Given the description of an element on the screen output the (x, y) to click on. 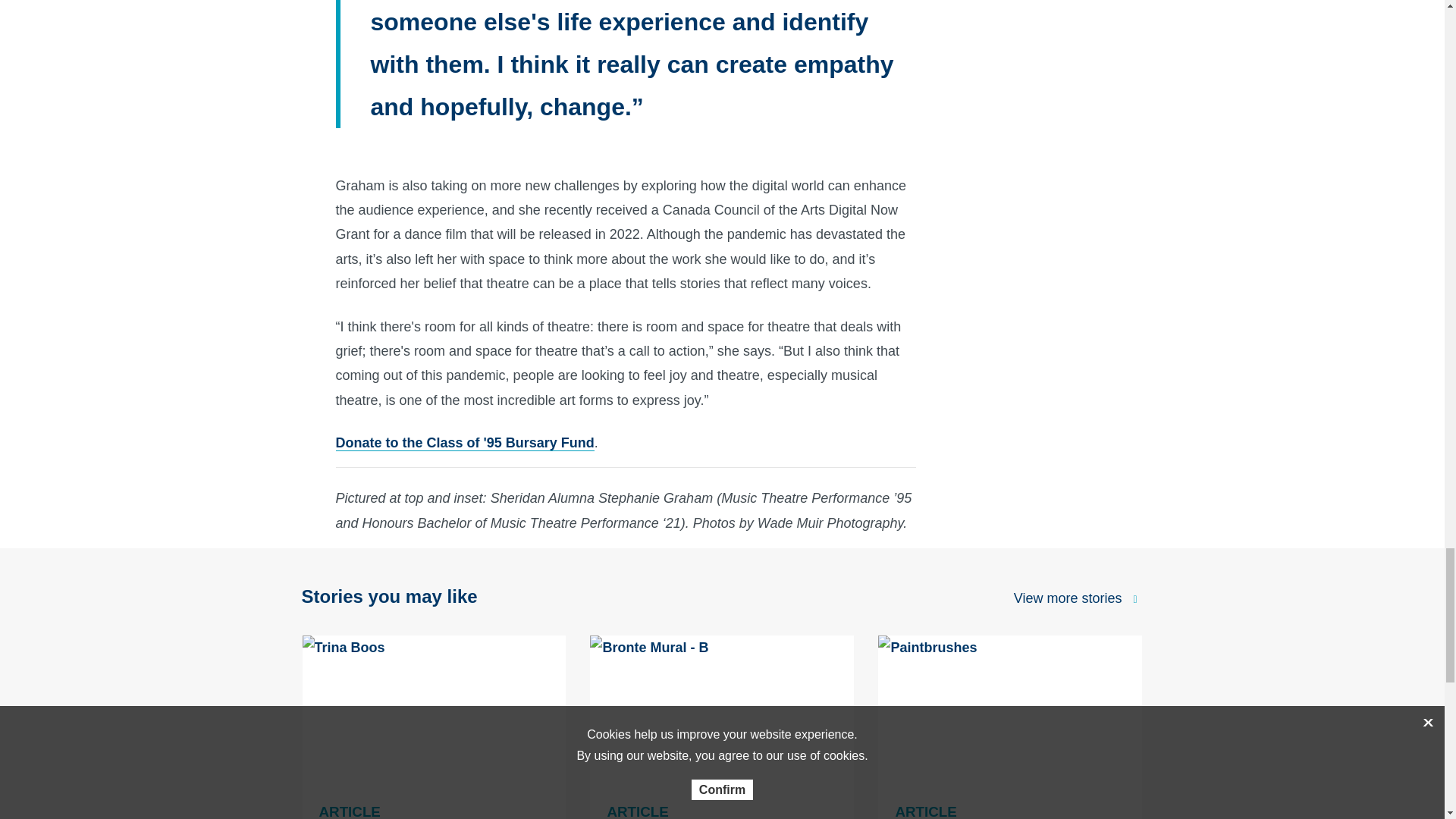
by-design (1009, 726)
bronte-mural-designed-by-students (721, 726)
View more stories (1067, 598)
Donate to the Class of '95 Bursary Fund (464, 442)
trina-boos (434, 726)
